Given the description of an element on the screen output the (x, y) to click on. 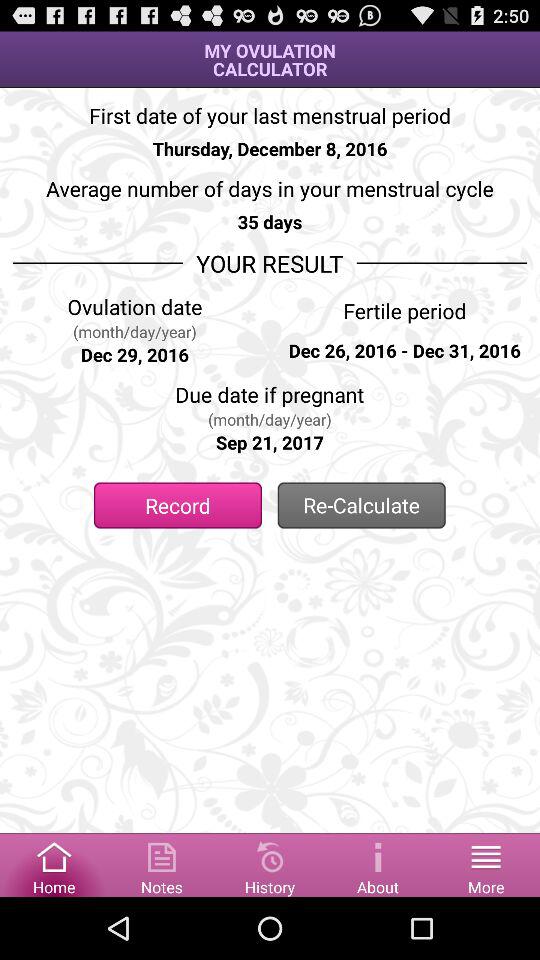
more (486, 864)
